Given the description of an element on the screen output the (x, y) to click on. 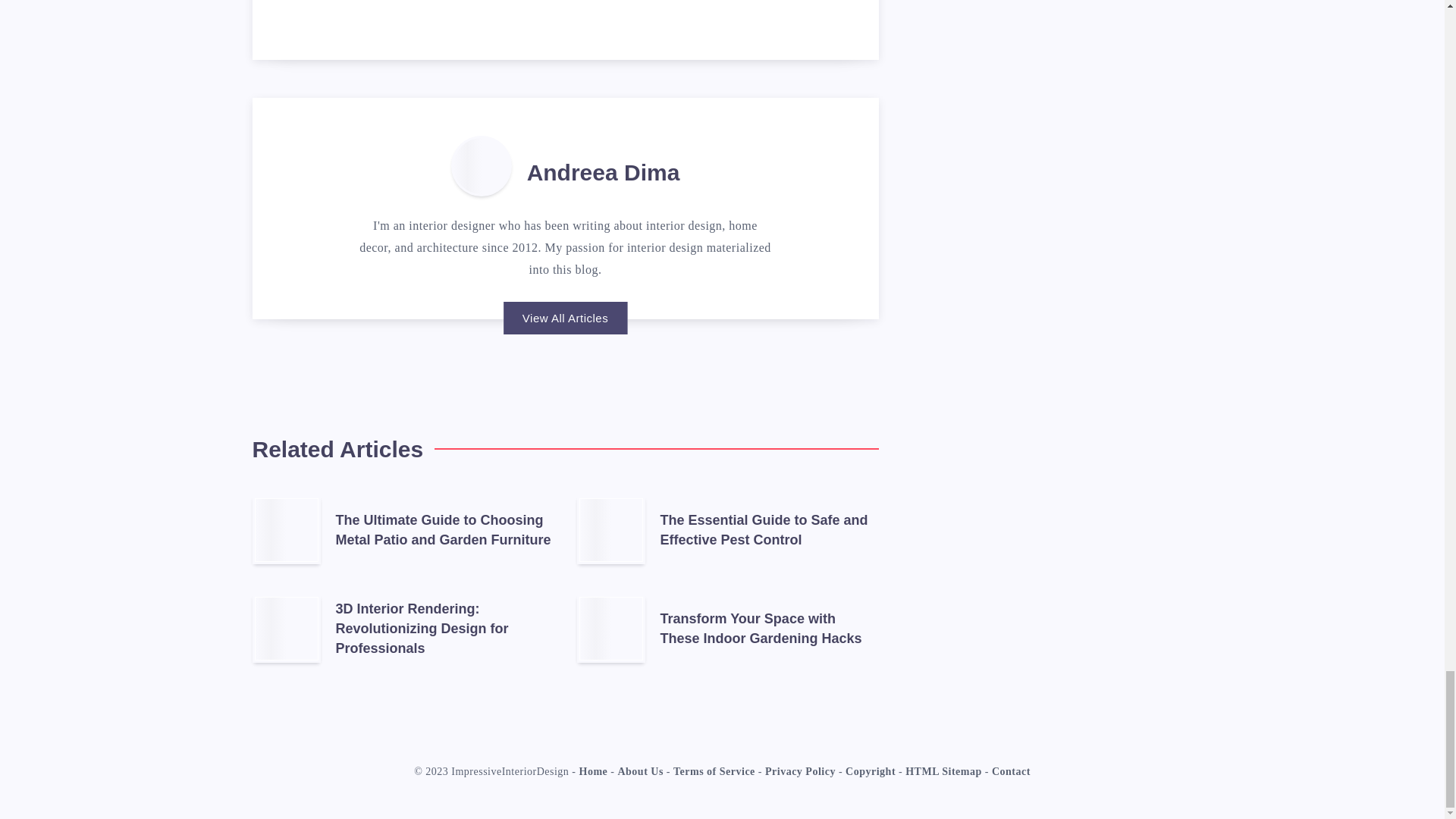
Author: Andreea Dima (481, 165)
